Given the description of an element on the screen output the (x, y) to click on. 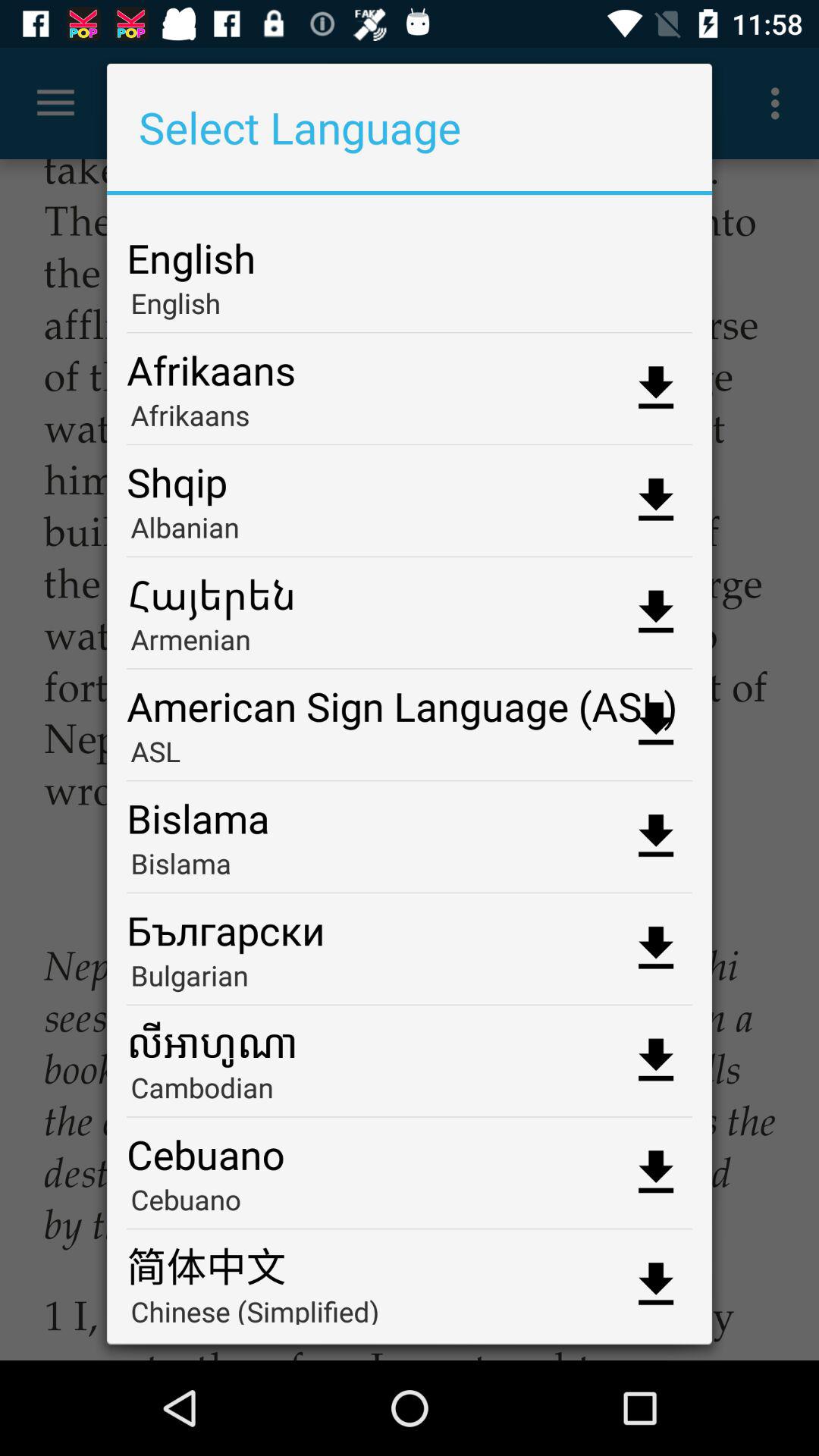
scroll to the chinese (simplified) item (409, 1308)
